Given the description of an element on the screen output the (x, y) to click on. 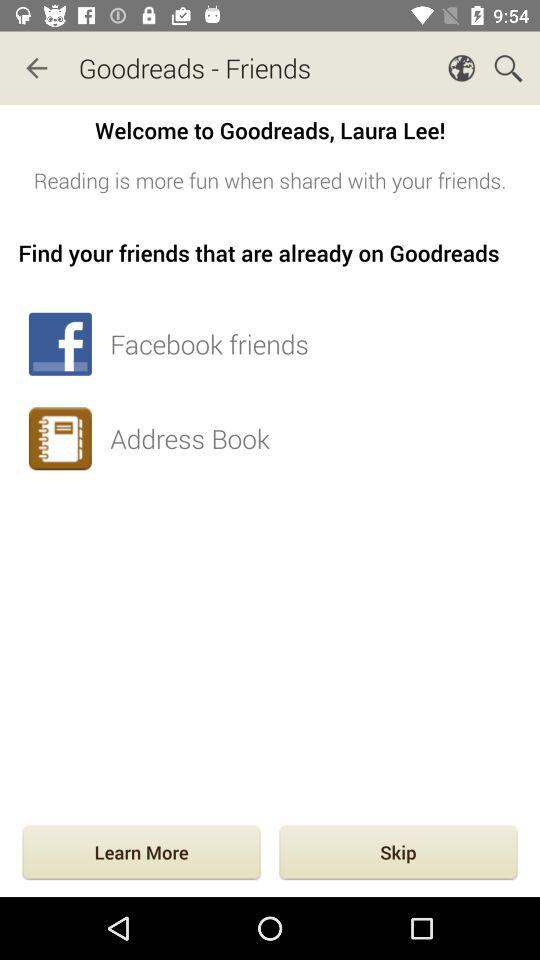
turn on the skip item (398, 854)
